Given the description of an element on the screen output the (x, y) to click on. 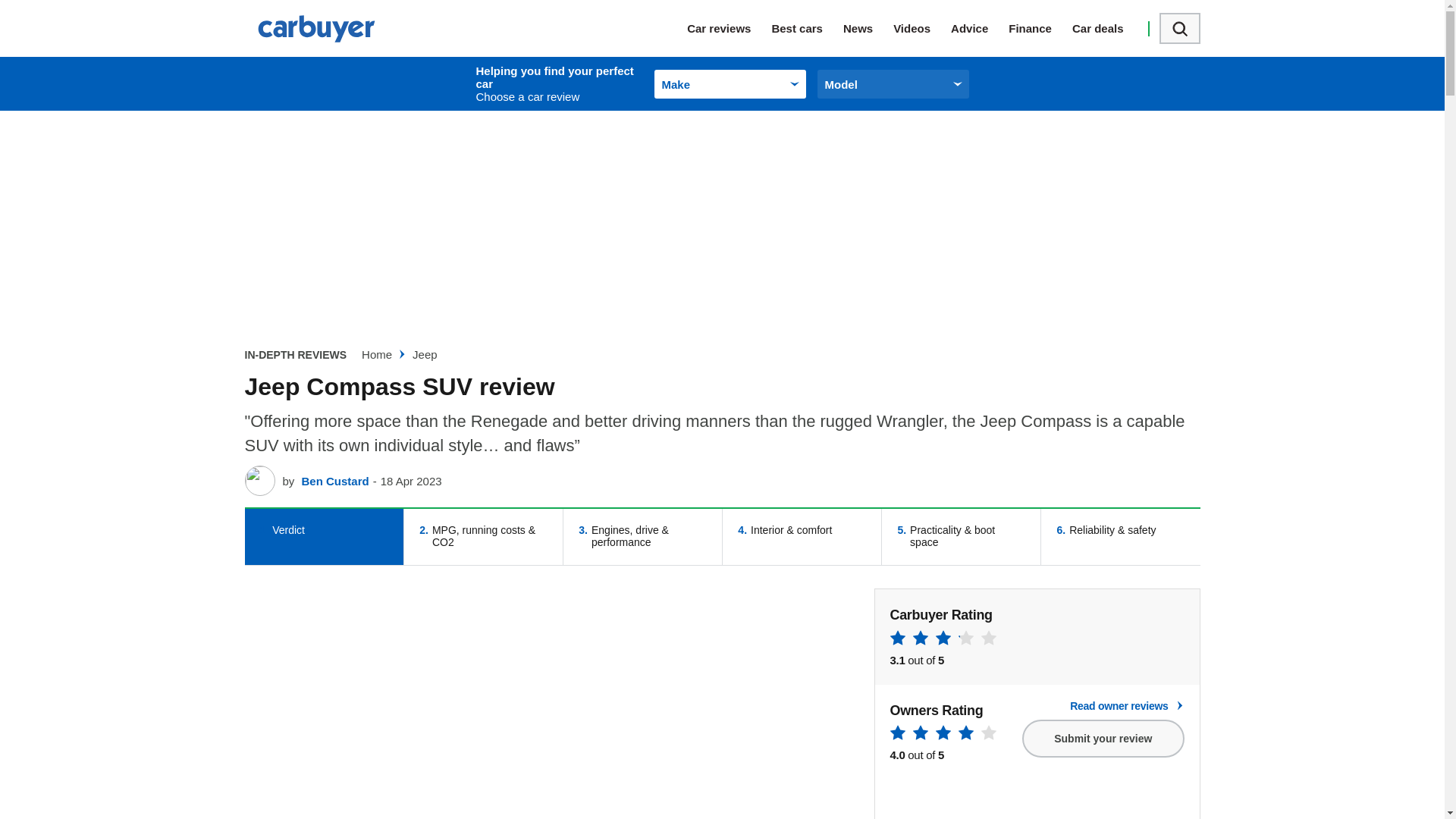
Finance (1040, 27)
Car reviews (729, 27)
News (868, 27)
Search (1178, 28)
Advice (979, 27)
Car deals (1107, 27)
Leave your review (1102, 738)
3.1 Stars (942, 639)
Best cars (807, 27)
4 Stars (942, 735)
